Given the description of an element on the screen output the (x, y) to click on. 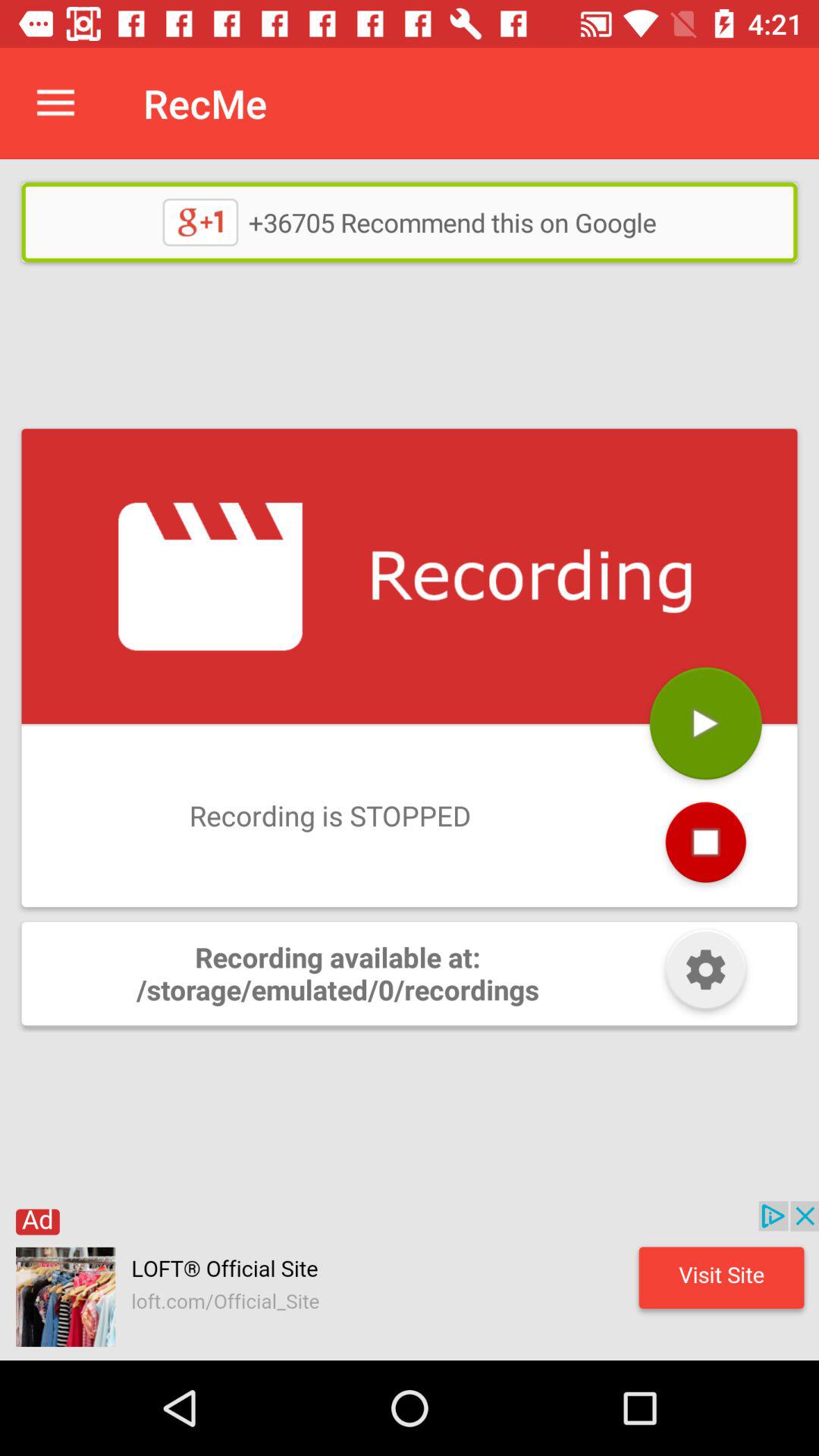
adsense link (409, 1280)
